Given the description of an element on the screen output the (x, y) to click on. 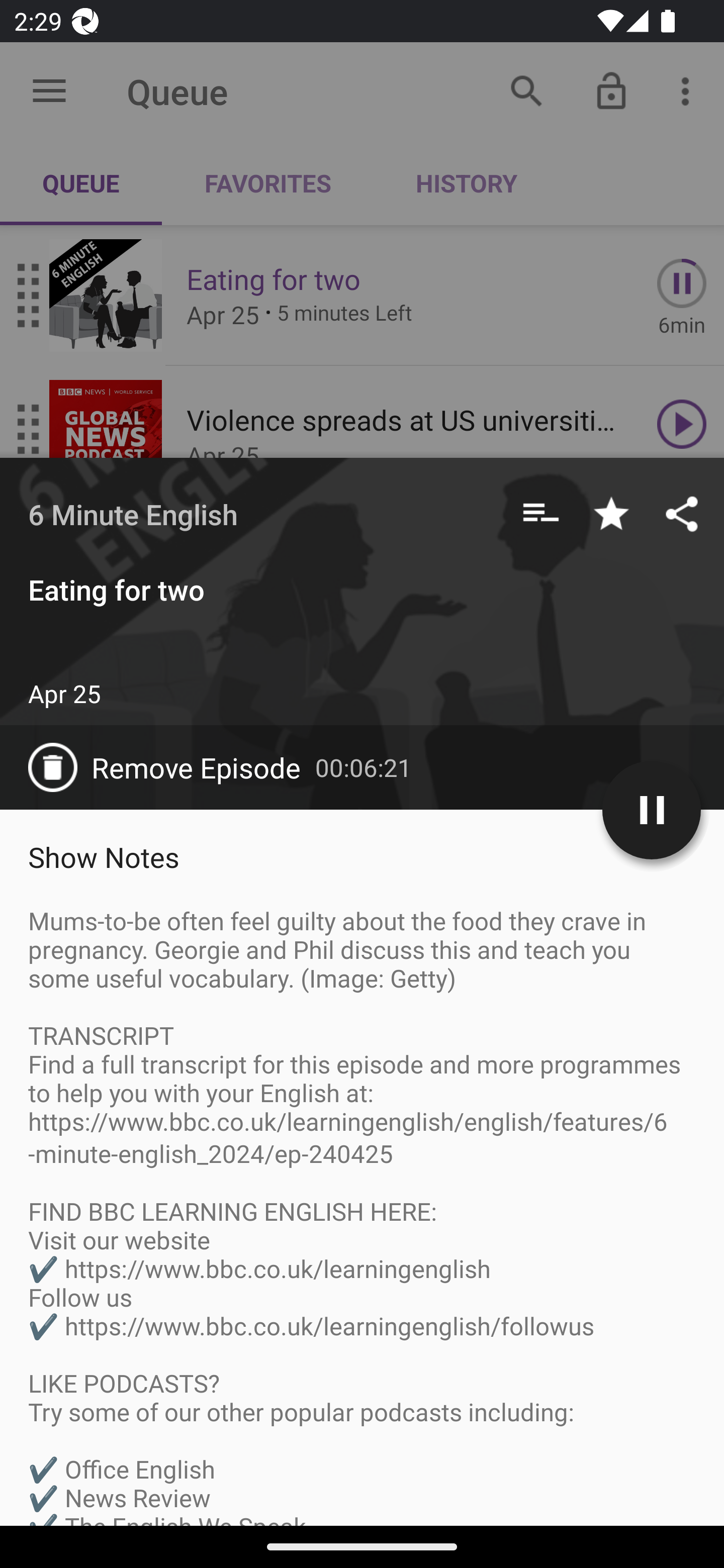
Remove Episode (171, 767)
Picture Eating for two 6 Minute English (316, 1472)
